Given the description of an element on the screen output the (x, y) to click on. 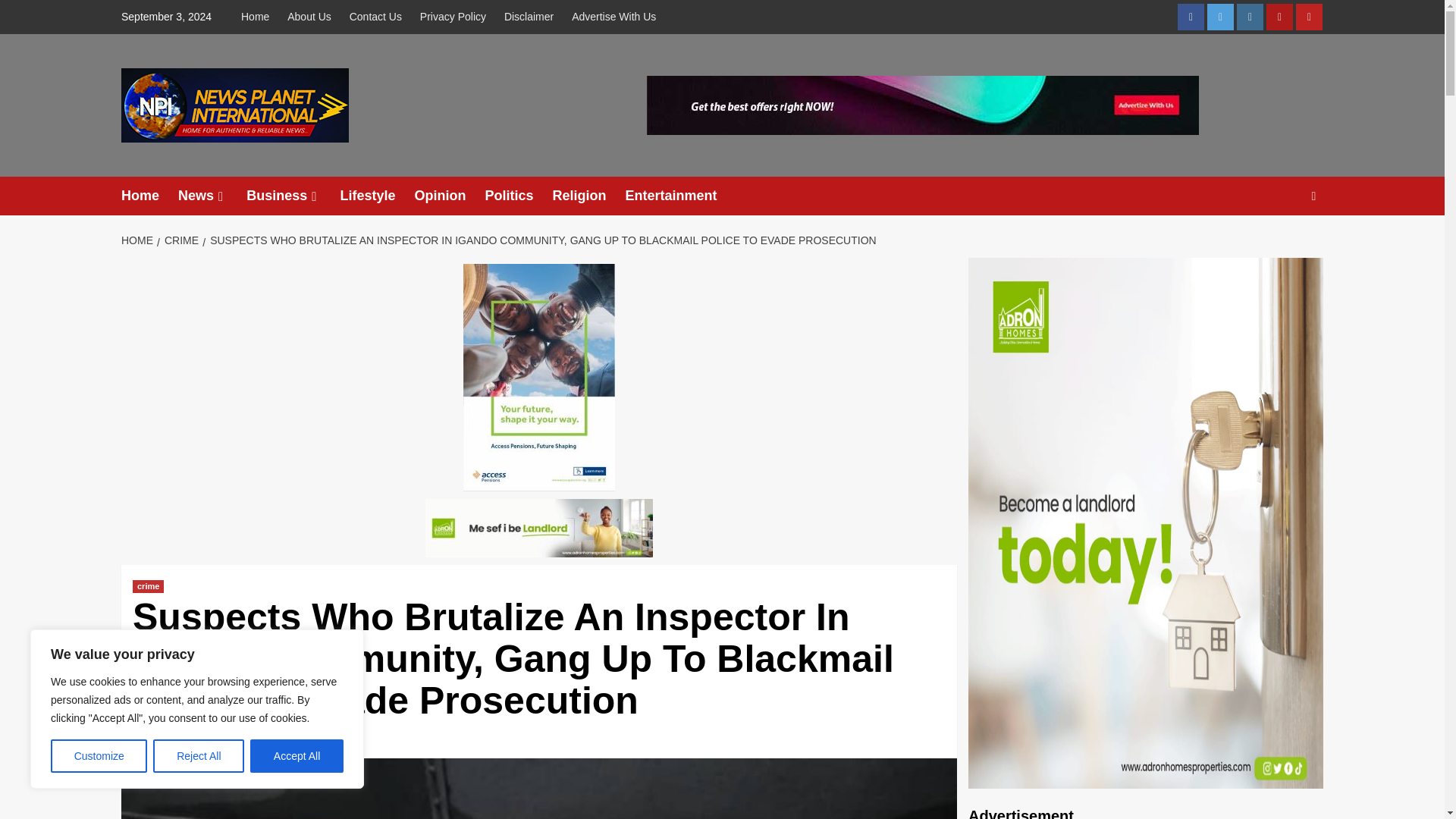
Reject All (198, 756)
Privacy Policy (452, 17)
About Us (309, 17)
News (211, 195)
Facebook (1190, 17)
Home (258, 17)
Accept All (296, 756)
Business (292, 195)
Contact Us (375, 17)
Youtube (1308, 17)
